Given the description of an element on the screen output the (x, y) to click on. 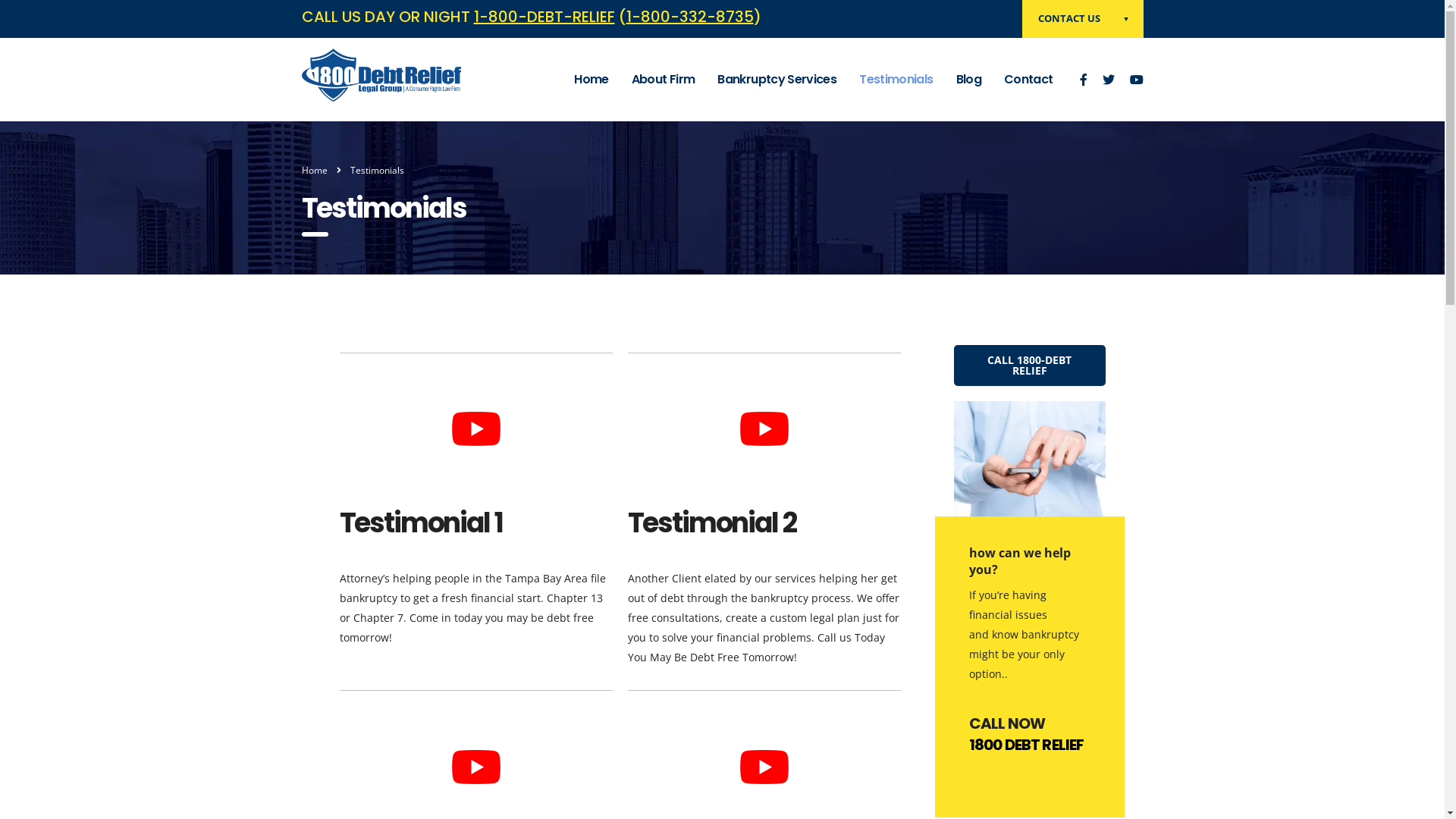
Bankruptcy Services Element type: text (776, 79)
About Firm Element type: text (663, 79)
CALL 1800-DEBT RELIEF Element type: text (1029, 365)
Blog Element type: text (968, 79)
Home Element type: text (314, 169)
1-800-332-8735 Element type: text (689, 16)
Testimonials Element type: text (895, 79)
Contact Element type: text (1028, 79)
1800 DEBT RELIEF Element type: text (1026, 744)
Home Element type: text (590, 79)
1-800-DEBT-RELIEF Element type: text (543, 16)
